Given the description of an element on the screen output the (x, y) to click on. 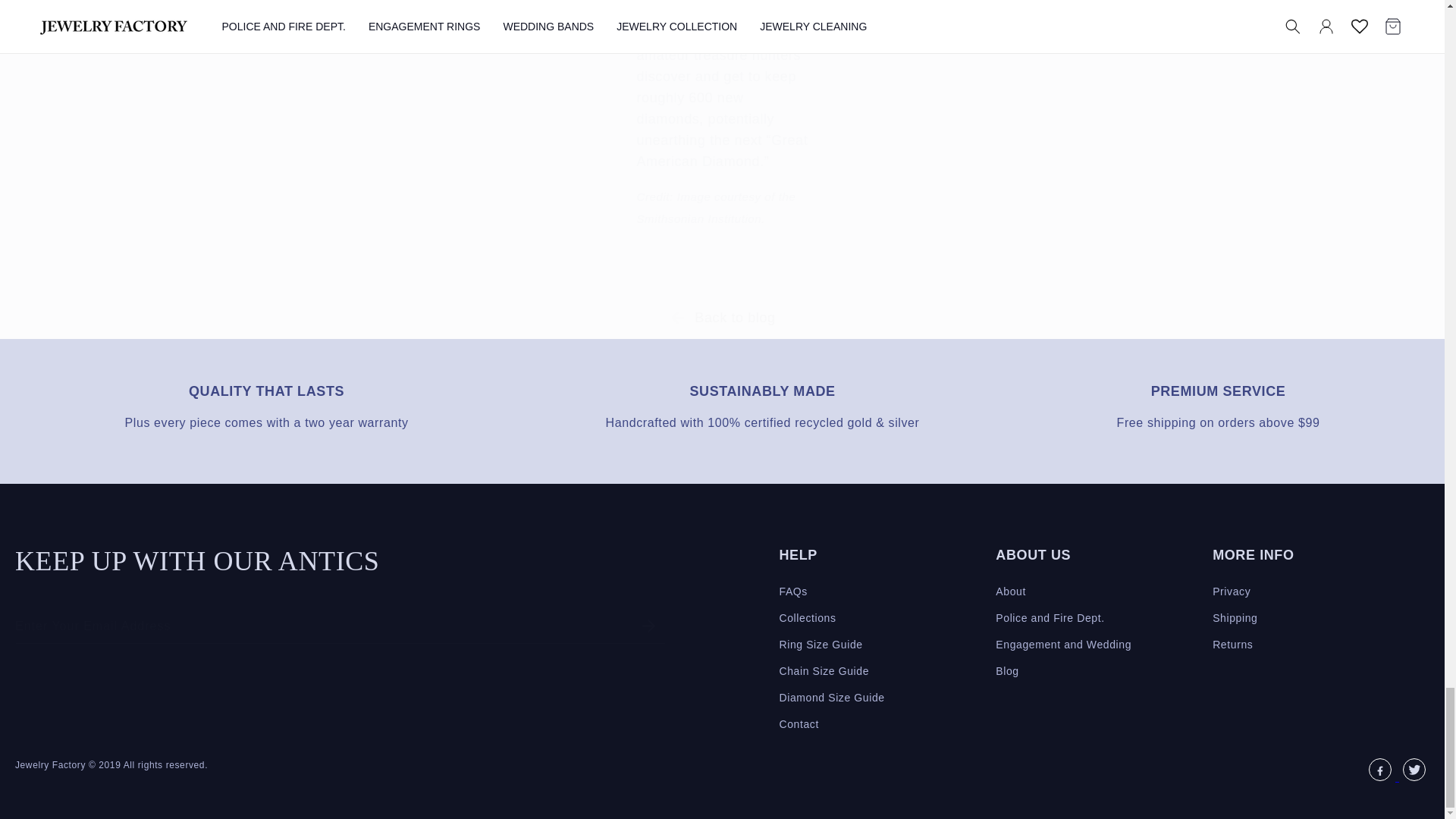
Enter Your Email Address (339, 626)
